Given the description of an element on the screen output the (x, y) to click on. 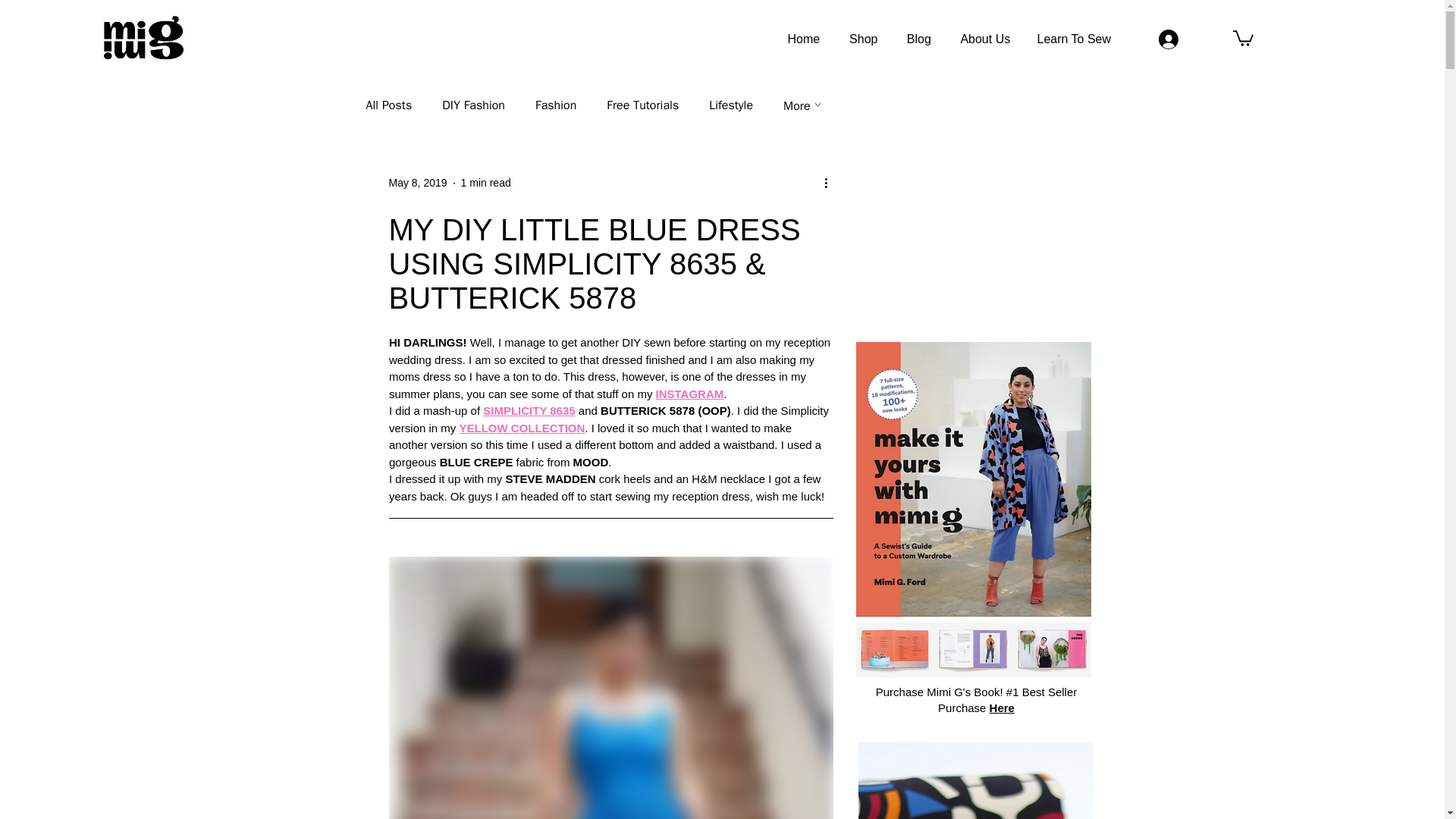
INSTAGRAM (689, 392)
About Us (984, 39)
Shop (862, 39)
Free Tutorials (642, 105)
DIY Fashion (473, 105)
May 8, 2019 (417, 182)
2.png (976, 780)
YELLOW COLLECTION (521, 427)
Lifestyle (730, 105)
1 min read (486, 182)
